Given the description of an element on the screen output the (x, y) to click on. 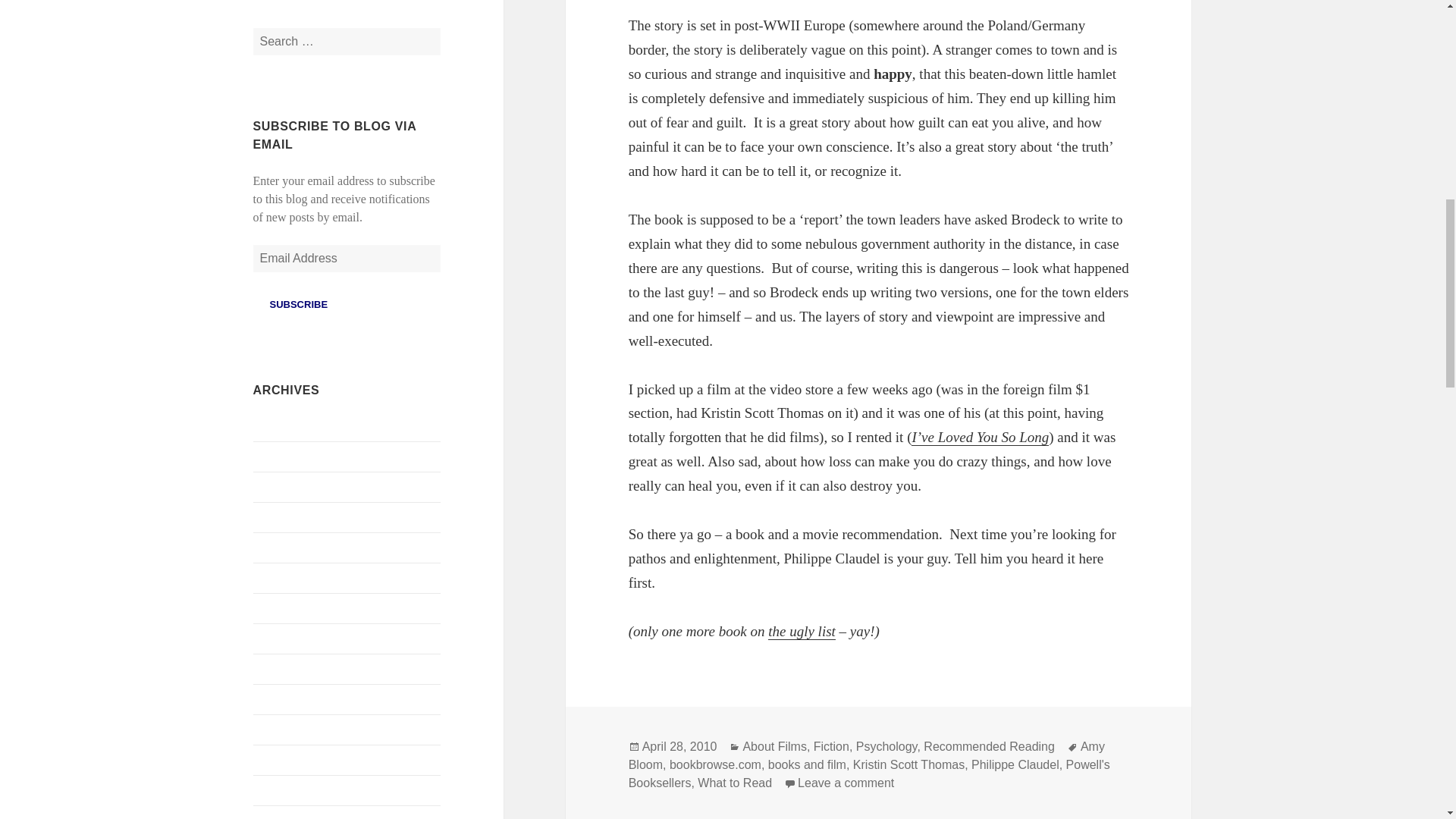
July 2022 (277, 517)
August 2016 (284, 759)
February 2024 (288, 426)
April 2023 (279, 456)
April 2016 (279, 816)
March 2017 (283, 668)
March 2018 (283, 638)
August 2022 (284, 486)
SUBSCRIBE (299, 304)
